Given the description of an element on the screen output the (x, y) to click on. 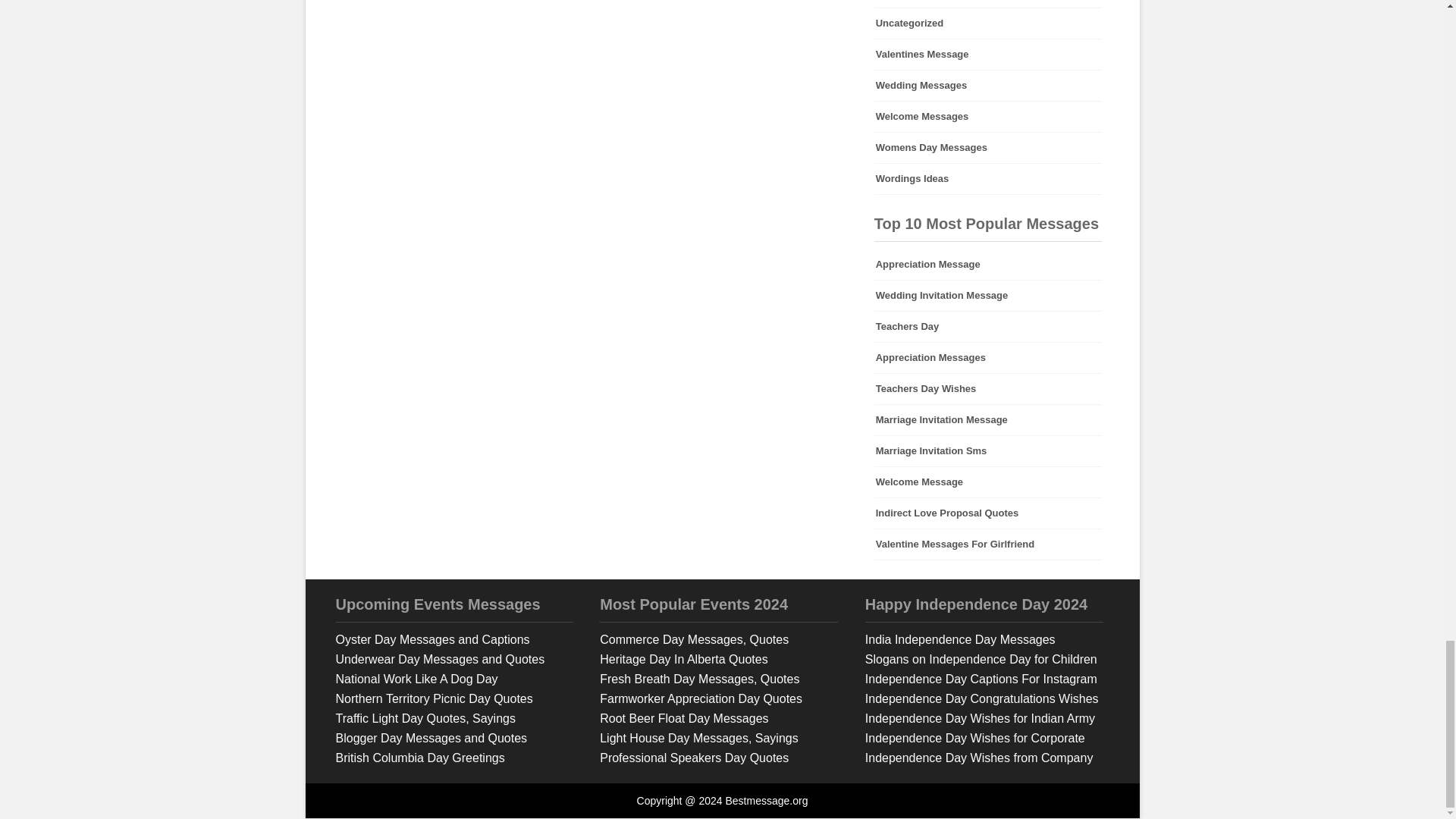
appreciation message (988, 264)
appreciation messages (988, 358)
marriage invitation message (988, 419)
teachers day wishes (988, 388)
wedding invitation message (988, 295)
teachers day (988, 327)
